Given the description of an element on the screen output the (x, y) to click on. 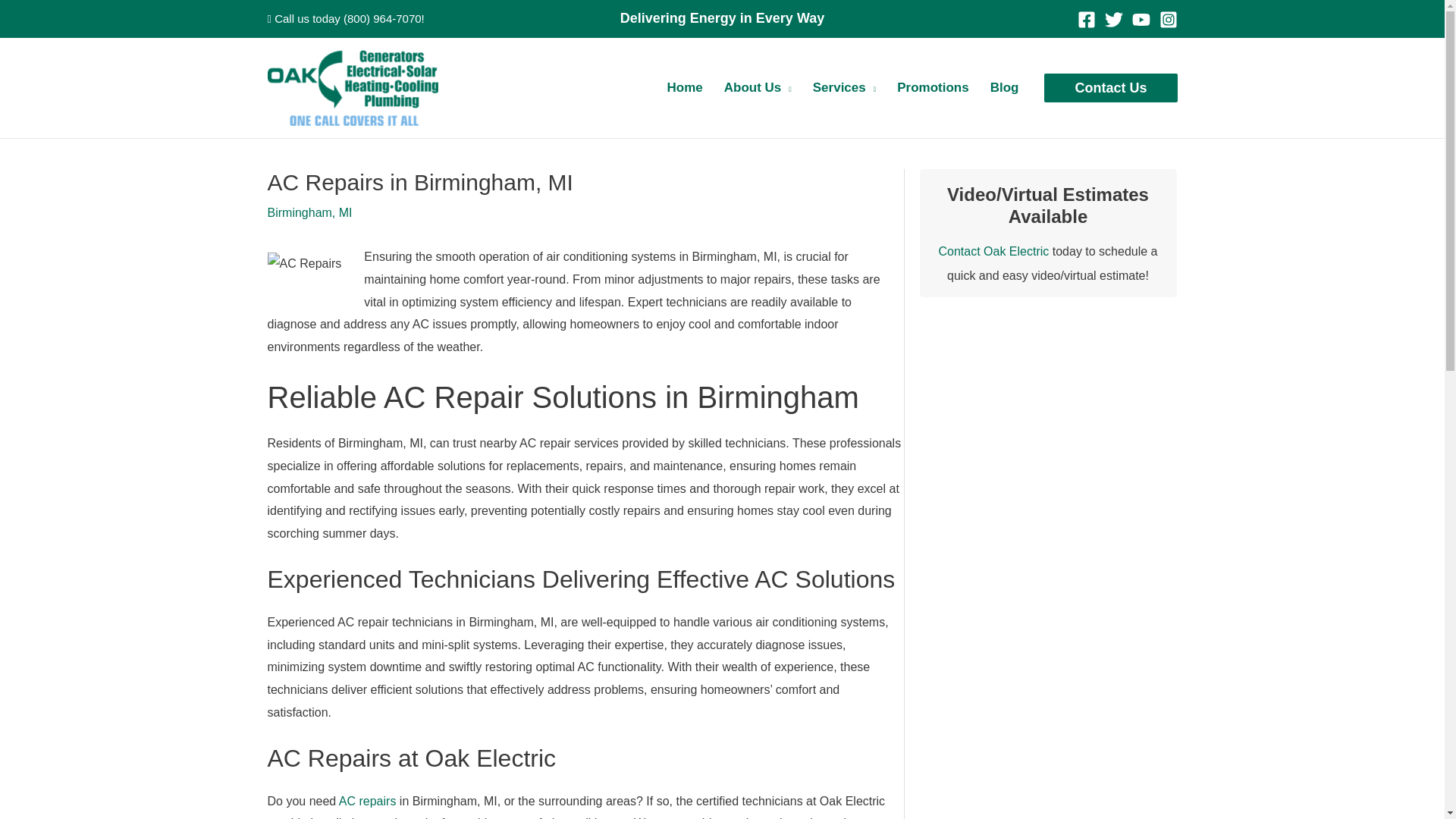
About Us (757, 87)
Services (844, 87)
Home (684, 87)
